Given the description of an element on the screen output the (x, y) to click on. 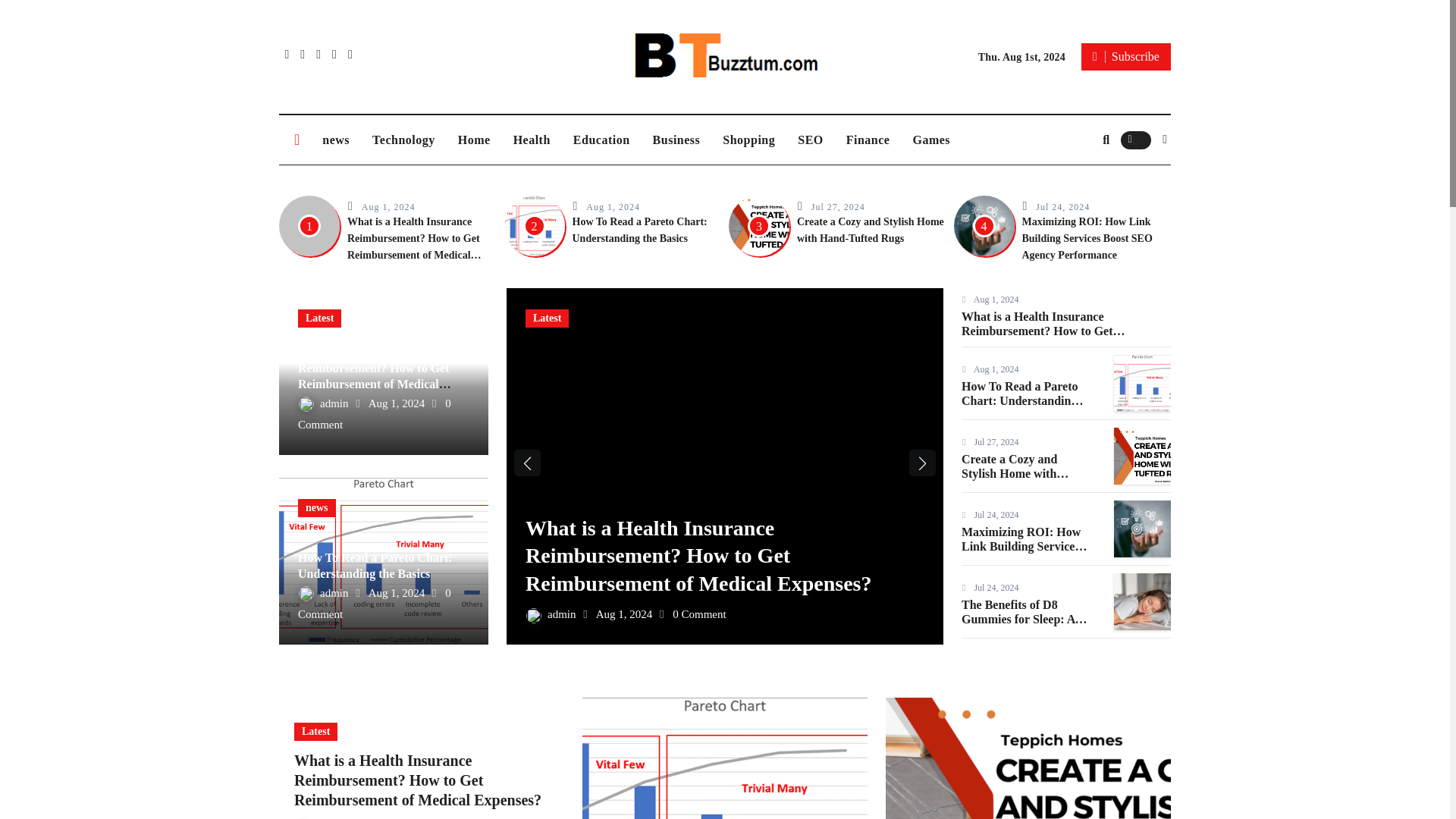
Finance (867, 139)
news (336, 139)
Aug 1, 2024 (387, 206)
Home (474, 139)
Business (676, 139)
Create a Cozy and Stylish Home with Hand-Tufted Rugs (869, 230)
Business (676, 139)
Technology (403, 139)
SEO (810, 139)
Latest (319, 318)
Games (930, 139)
Technology (403, 139)
Jul 24, 2024 (1062, 206)
Games (930, 139)
Shopping (748, 139)
